Given the description of an element on the screen output the (x, y) to click on. 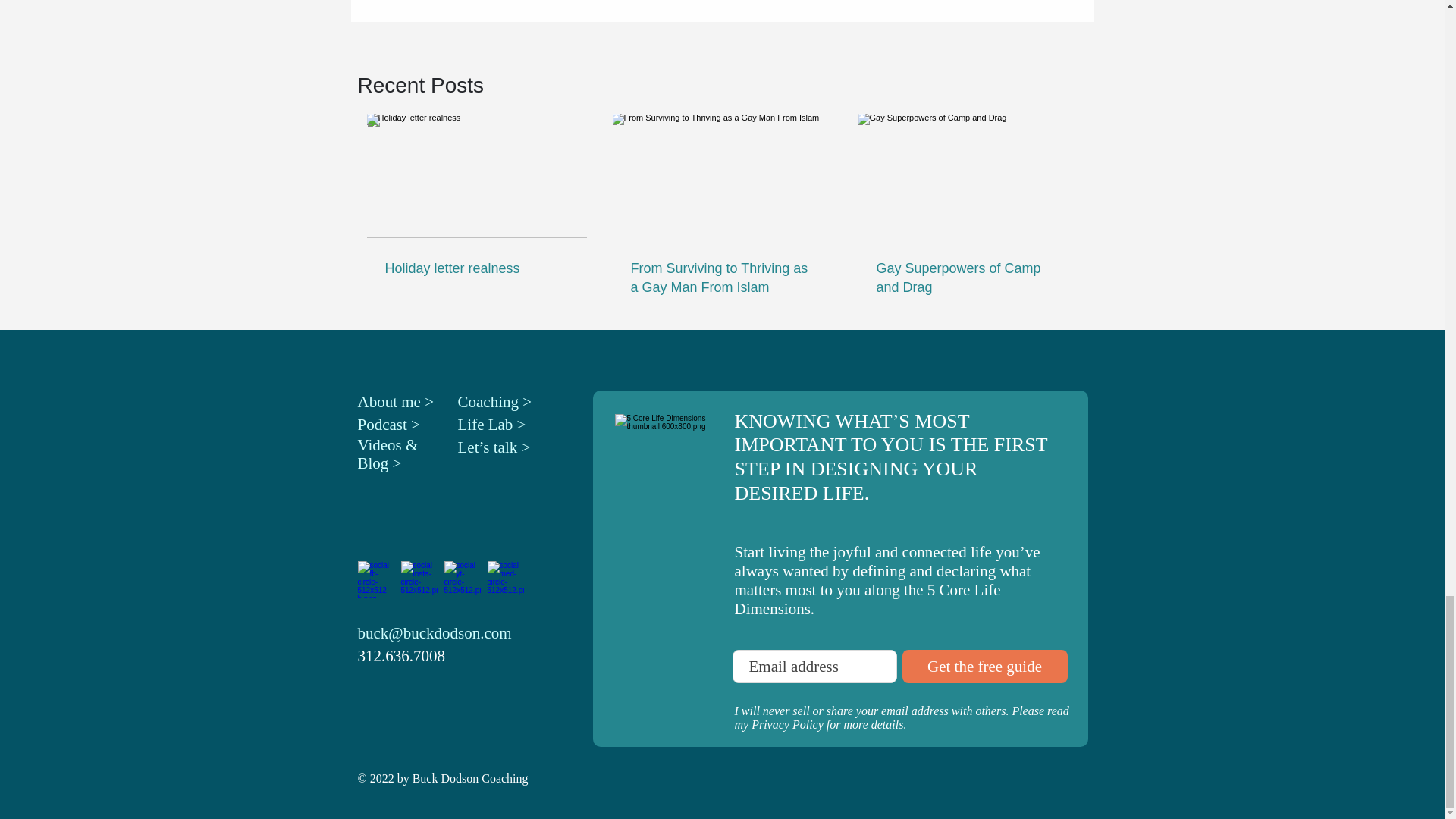
From Surviving to Thriving as a Gay Man From Islam (721, 278)
Privacy Policy (787, 724)
Holiday letter realness (477, 268)
Get the free guide (984, 666)
Gay Superpowers of Camp and Drag (967, 278)
